Given the description of an element on the screen output the (x, y) to click on. 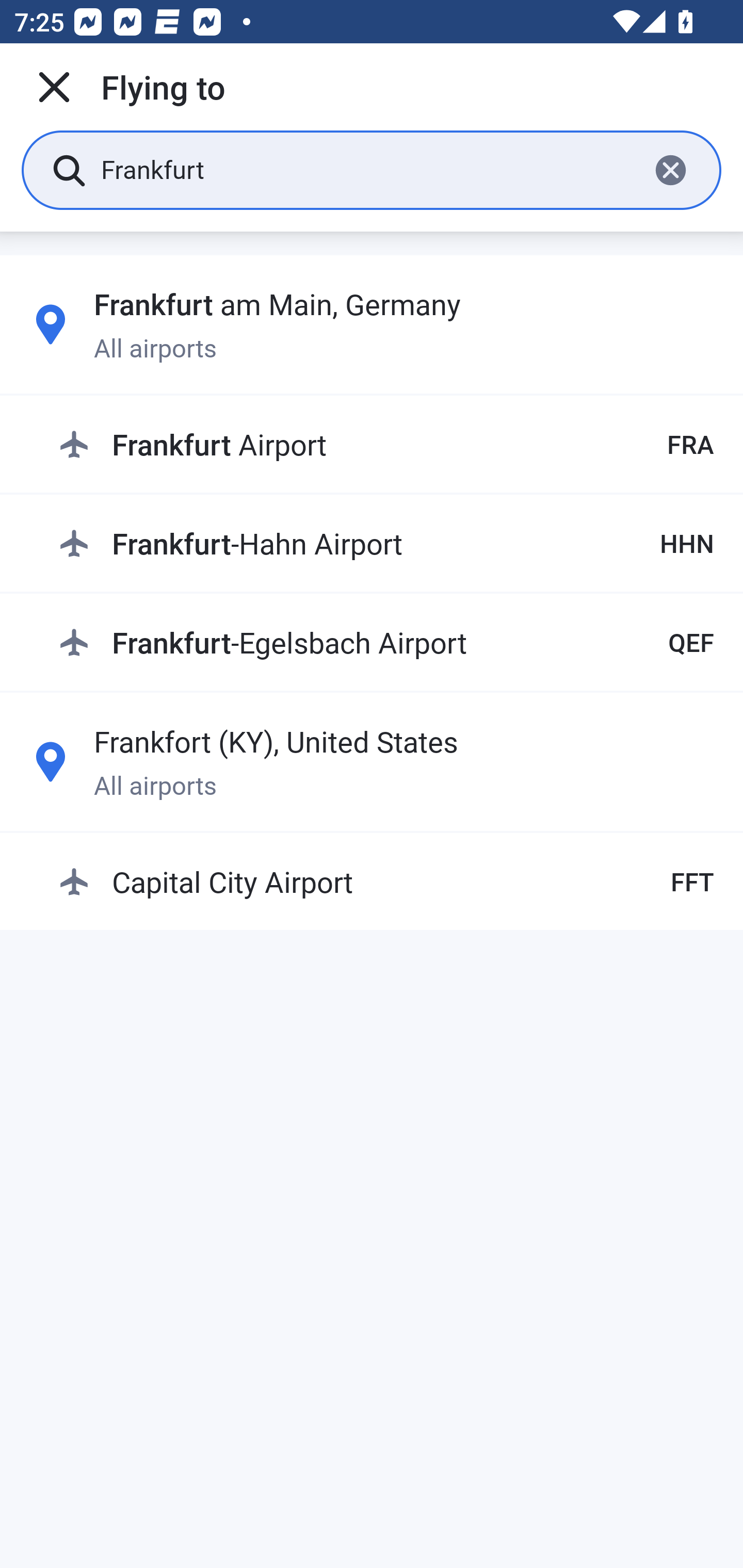
Frankfurt (367, 169)
Frankfurt am Main, Germany All airports (371, 324)
Frankfurt Airport FRA (385, 444)
Frankfurt-Hahn Airport HHN (385, 543)
Frankfurt-Egelsbach Airport QEF (385, 641)
Frankfort (KY), United States All airports (371, 761)
Capital City Airport FFT (385, 881)
